Given the description of an element on the screen output the (x, y) to click on. 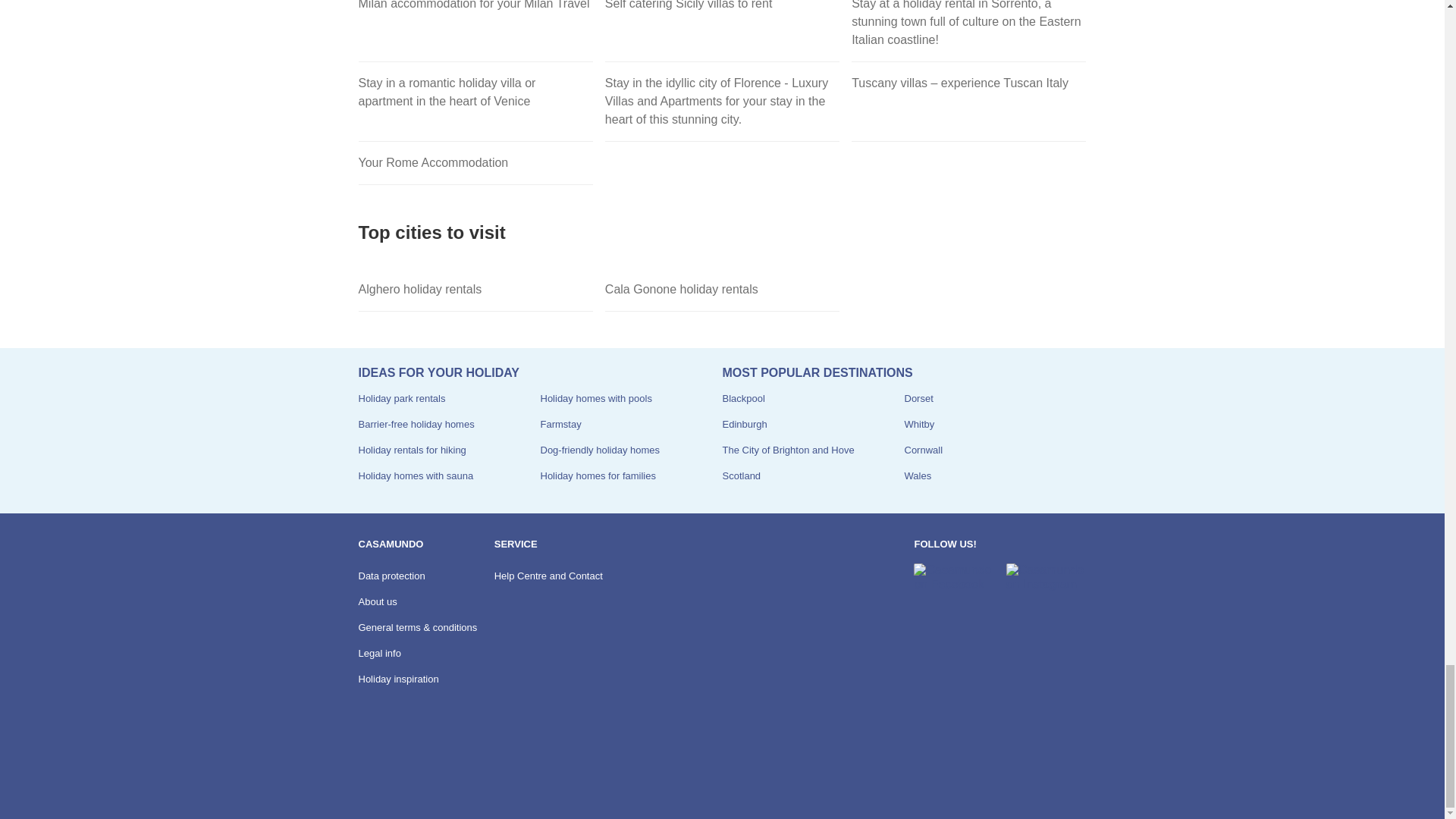
Book holiday homes and apartments - Casamundo (399, 776)
Casamundo on Facebook (953, 577)
Your Rome Accommodation (475, 163)
Self catering Sicily villas to rent (722, 31)
Cala Gonone holiday rentals (722, 290)
Casamundo on Instagram (1046, 577)
Milan accommodation for your Milan Travel (475, 31)
